Given the description of an element on the screen output the (x, y) to click on. 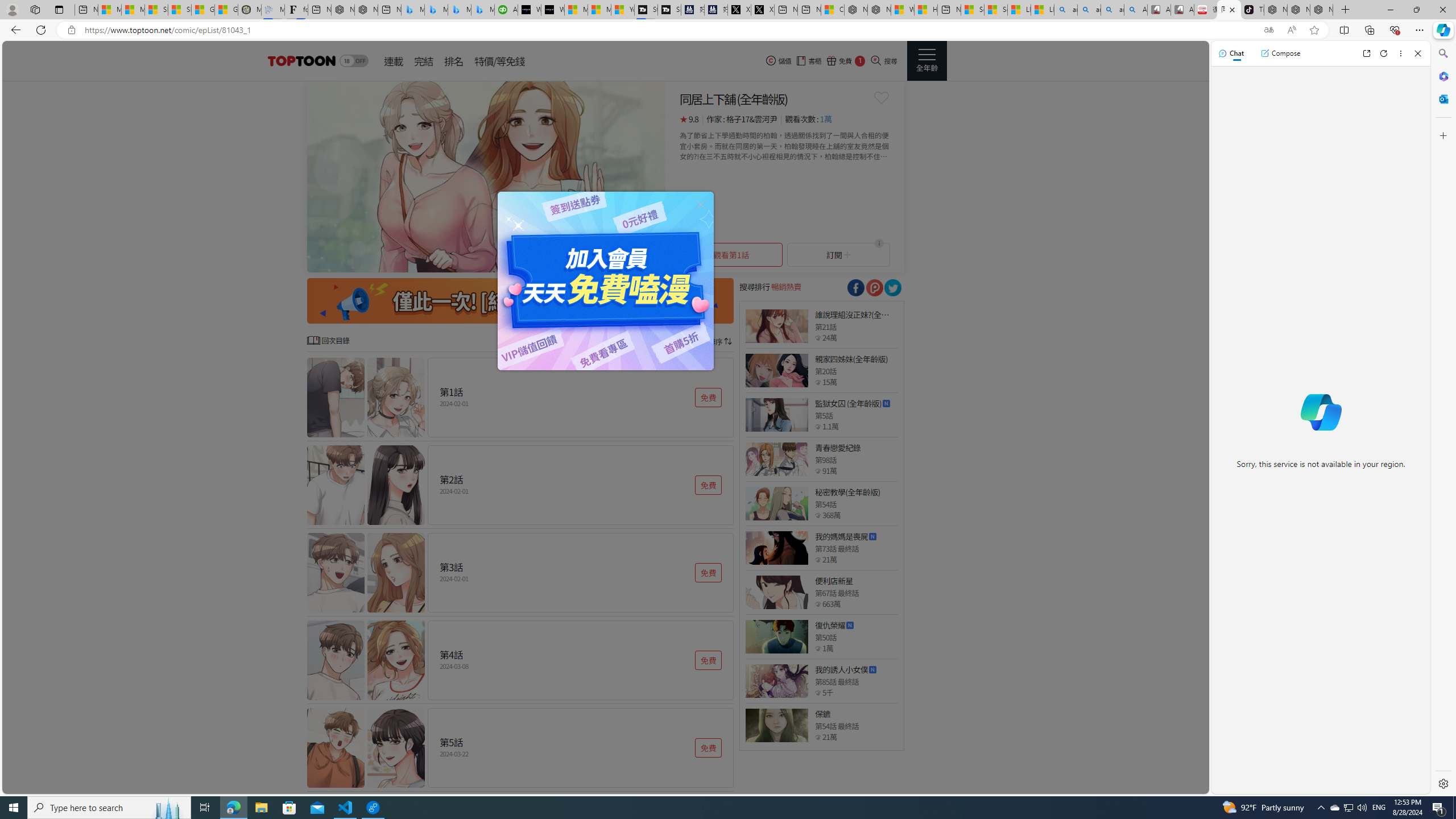
Compose (1280, 52)
Accounting Software for Accountants, CPAs and Bookkeepers (505, 9)
Nordace - Siena Pro 15 Essential Set (1321, 9)
Microsoft Bing Travel - Stays in Bangkok, Bangkok, Thailand (435, 9)
